Given the description of an element on the screen output the (x, y) to click on. 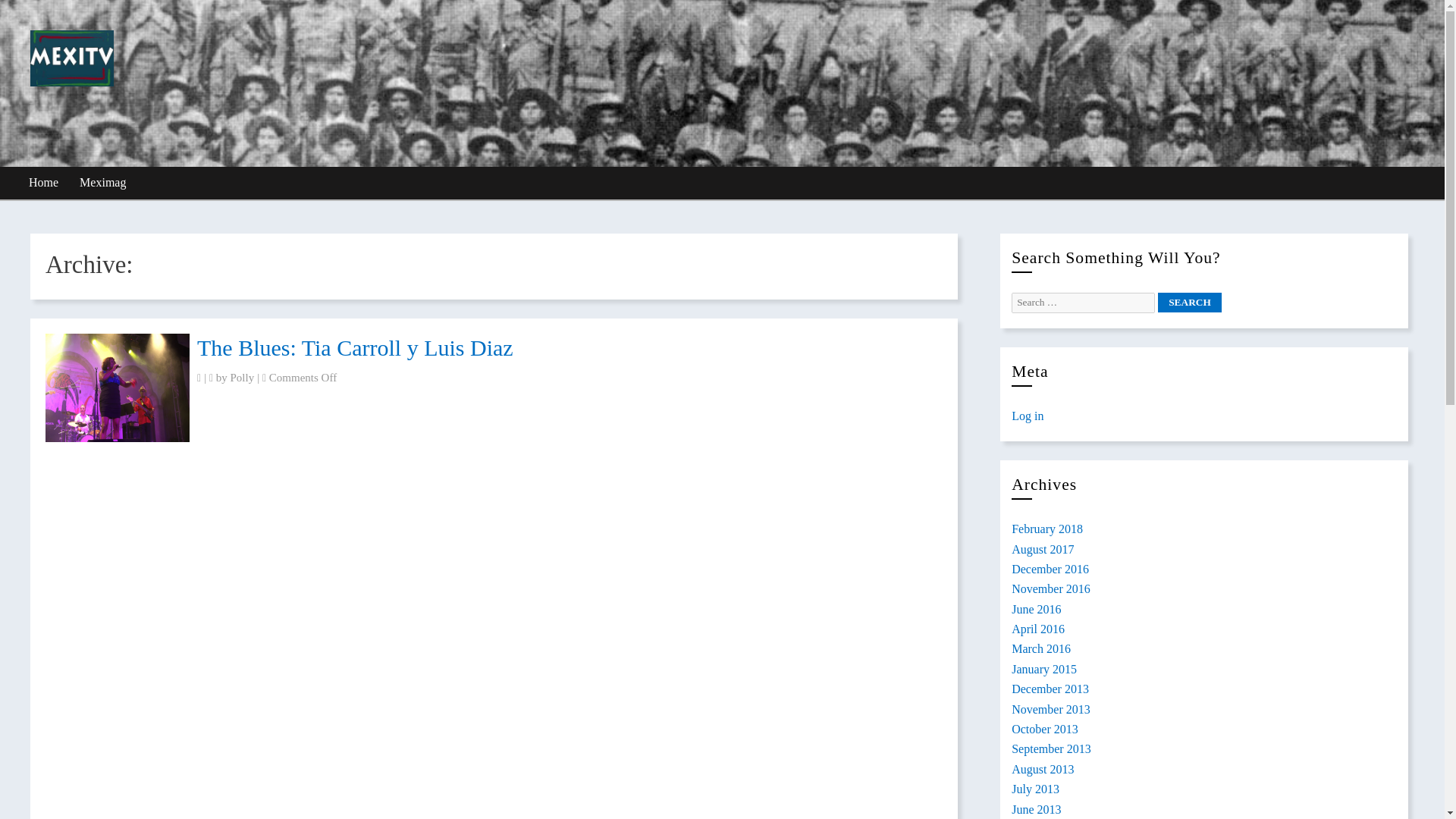
Log in (1027, 415)
July 2013 (1035, 788)
Meximag (102, 183)
The Blues: Tia Carroll y Luis Diaz (354, 347)
January 2015 (1044, 668)
October 2013 (1044, 728)
February 2018 (1047, 528)
November 2013 (1050, 708)
August 2017 (1042, 549)
April 2016 (1037, 628)
November 2016 (1050, 588)
Home (43, 183)
March 2016 (1040, 648)
August 2013 (1042, 768)
